Given the description of an element on the screen output the (x, y) to click on. 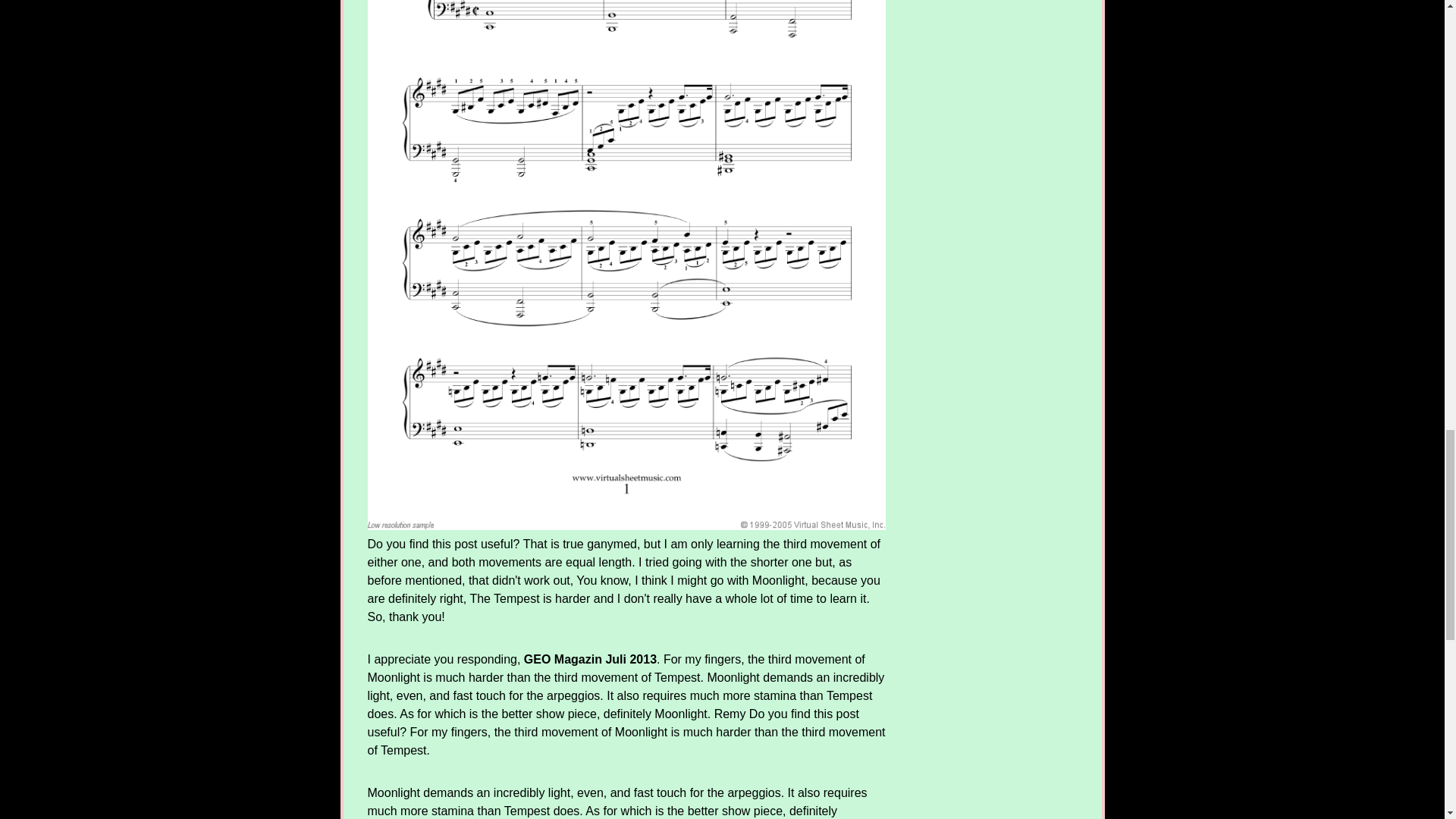
GEO Magazin Juli 2013 (590, 658)
GEO Magazin Juli 2013 (590, 658)
